Given the description of an element on the screen output the (x, y) to click on. 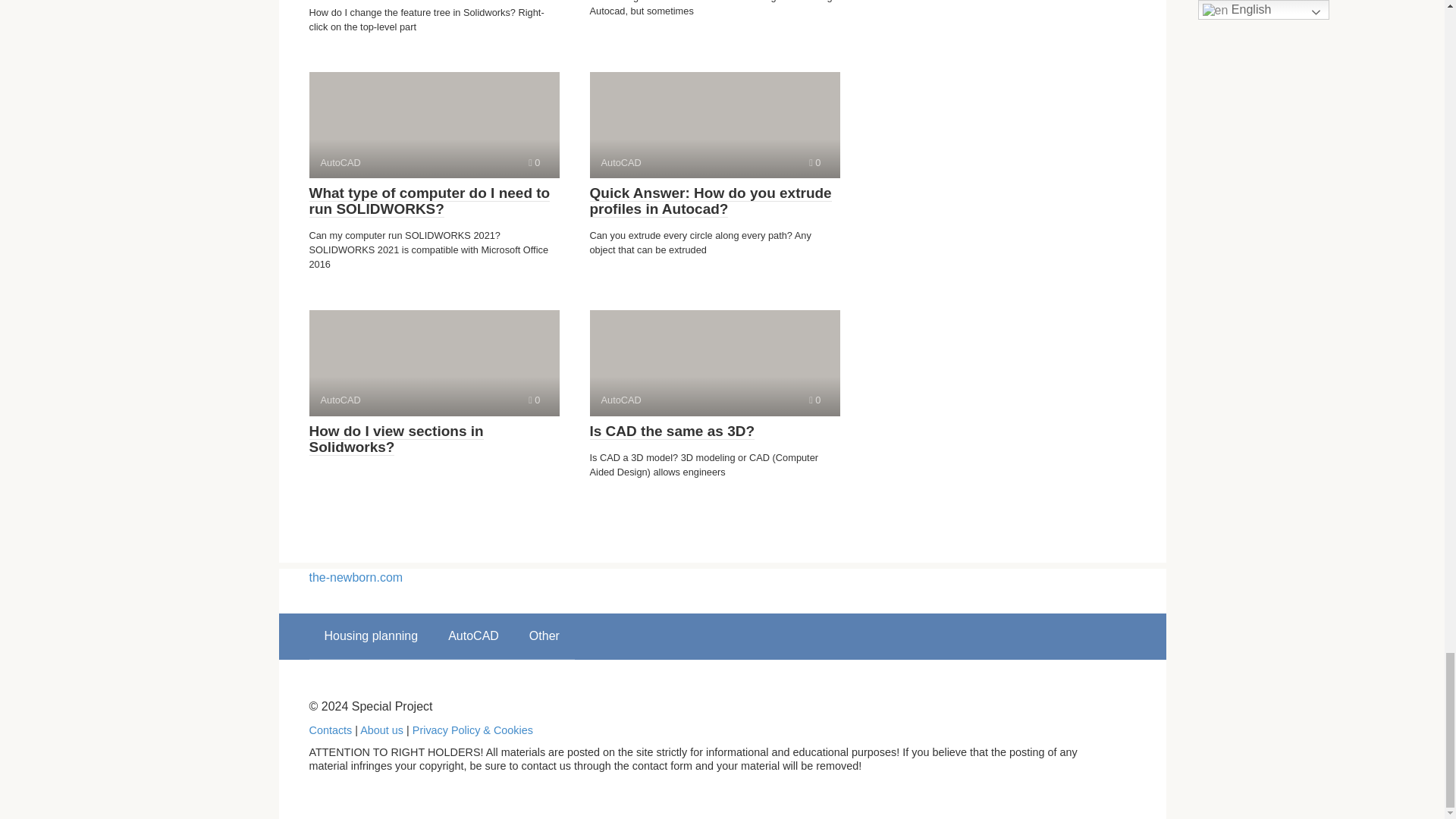
Comments (433, 363)
What type of computer do I need to run SOLIDWORKS? (815, 399)
Comments (714, 363)
How do I view sections in Solidworks? (714, 125)
Comments (429, 201)
Quick Answer: How do you extrude profiles in Autocad? (534, 162)
